Given the description of an element on the screen output the (x, y) to click on. 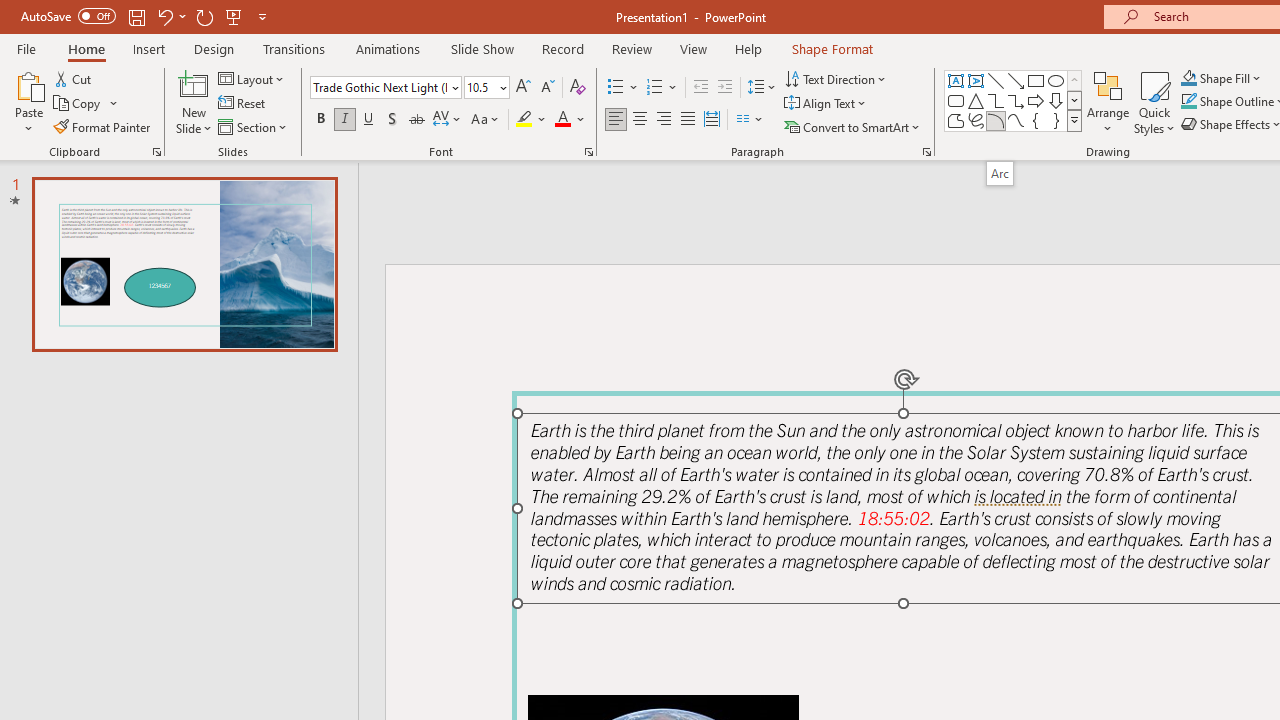
Shape Fill Aqua, Accent 2 (1188, 78)
